Given the description of an element on the screen output the (x, y) to click on. 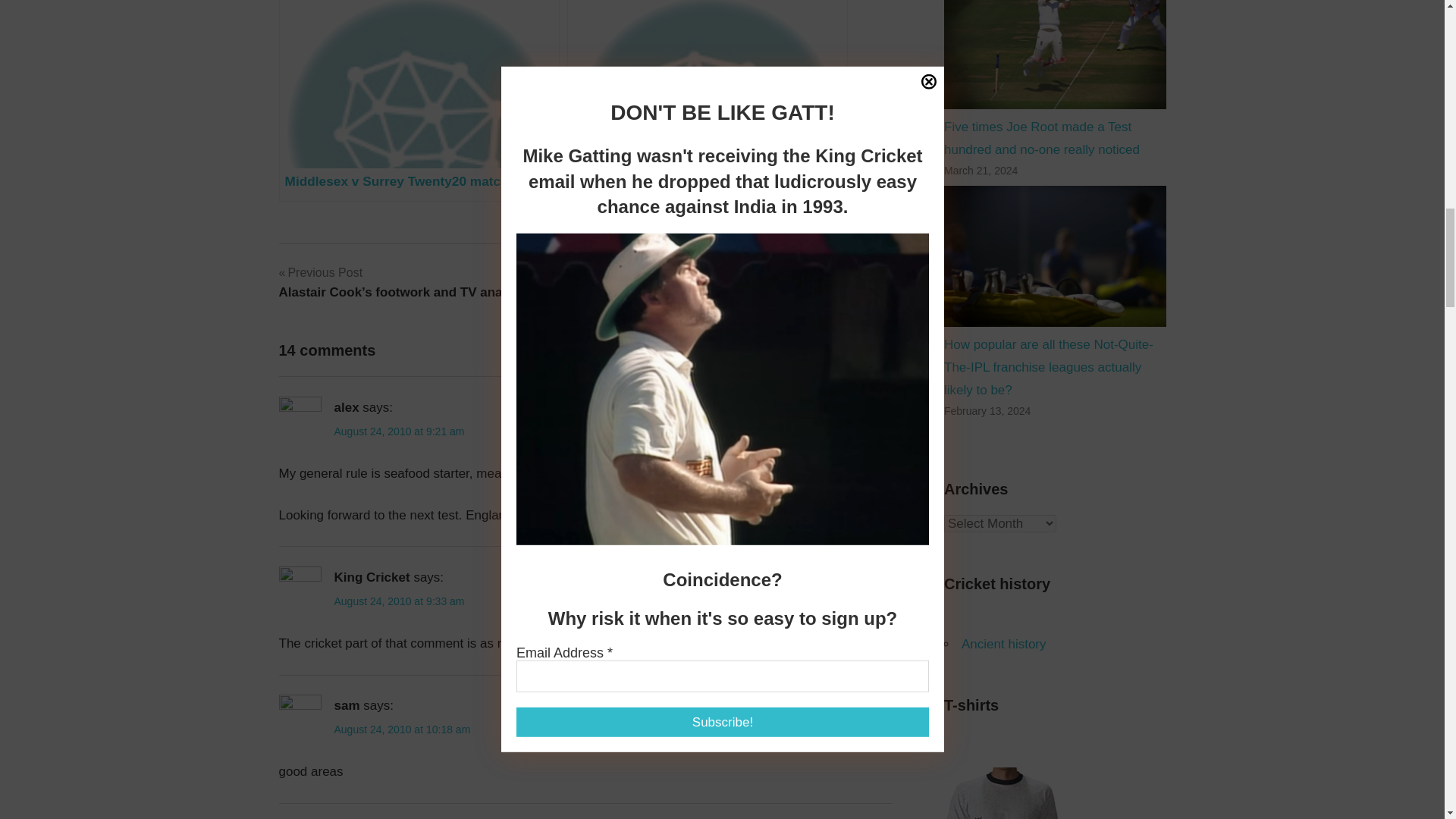
August 24, 2010 at 10:18 am (401, 729)
Middlesex v Glamorgan match report (860, 282)
August 24, 2010 at 9:33 am (707, 100)
Middlesex v Glamorgan match report (398, 601)
August 24, 2010 at 9:21 am (707, 100)
Middlesex v Surrey Twenty20 match report (398, 431)
Middlesex v Surrey Twenty20 match report (419, 100)
